Given the description of an element on the screen output the (x, y) to click on. 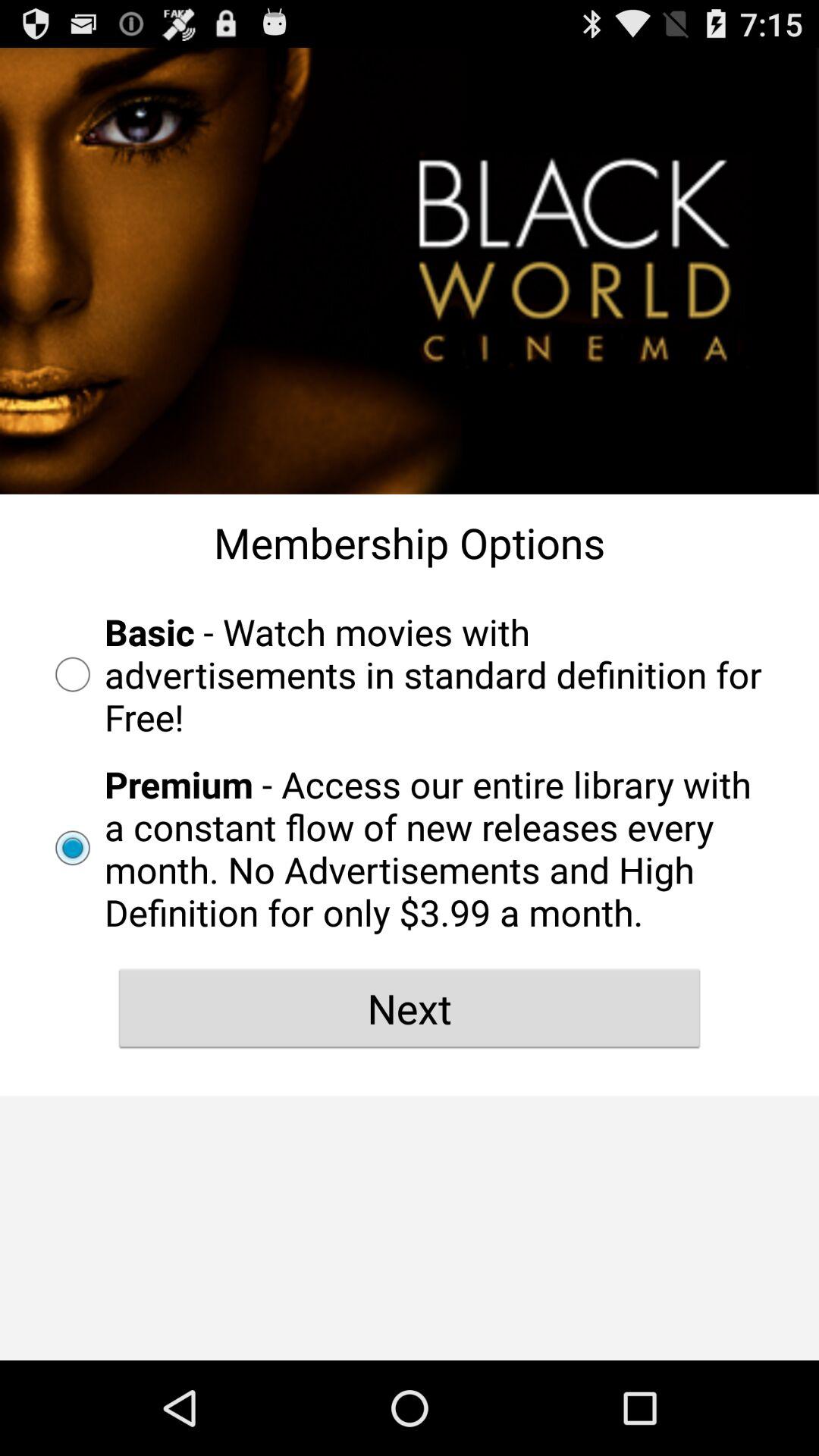
swipe to basic watch movies (409, 674)
